Given the description of an element on the screen output the (x, y) to click on. 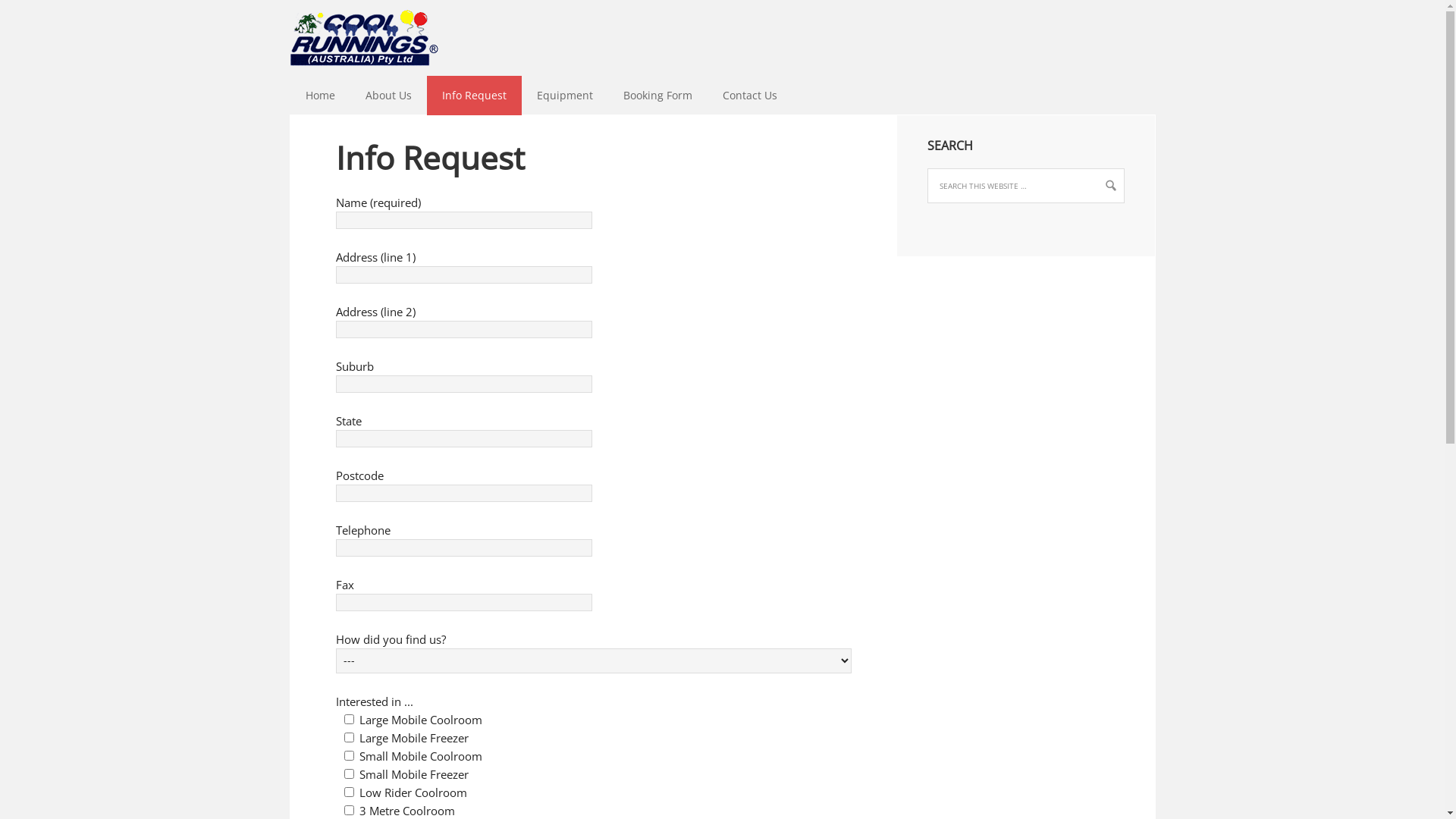
Cool Runnings Element type: text (721, 37)
Home Element type: text (319, 95)
Search Element type: text (32, 18)
Info Request Element type: text (473, 95)
About Us Element type: text (388, 95)
Contact Us Element type: text (748, 95)
Booking Form Element type: text (657, 95)
